Given the description of an element on the screen output the (x, y) to click on. 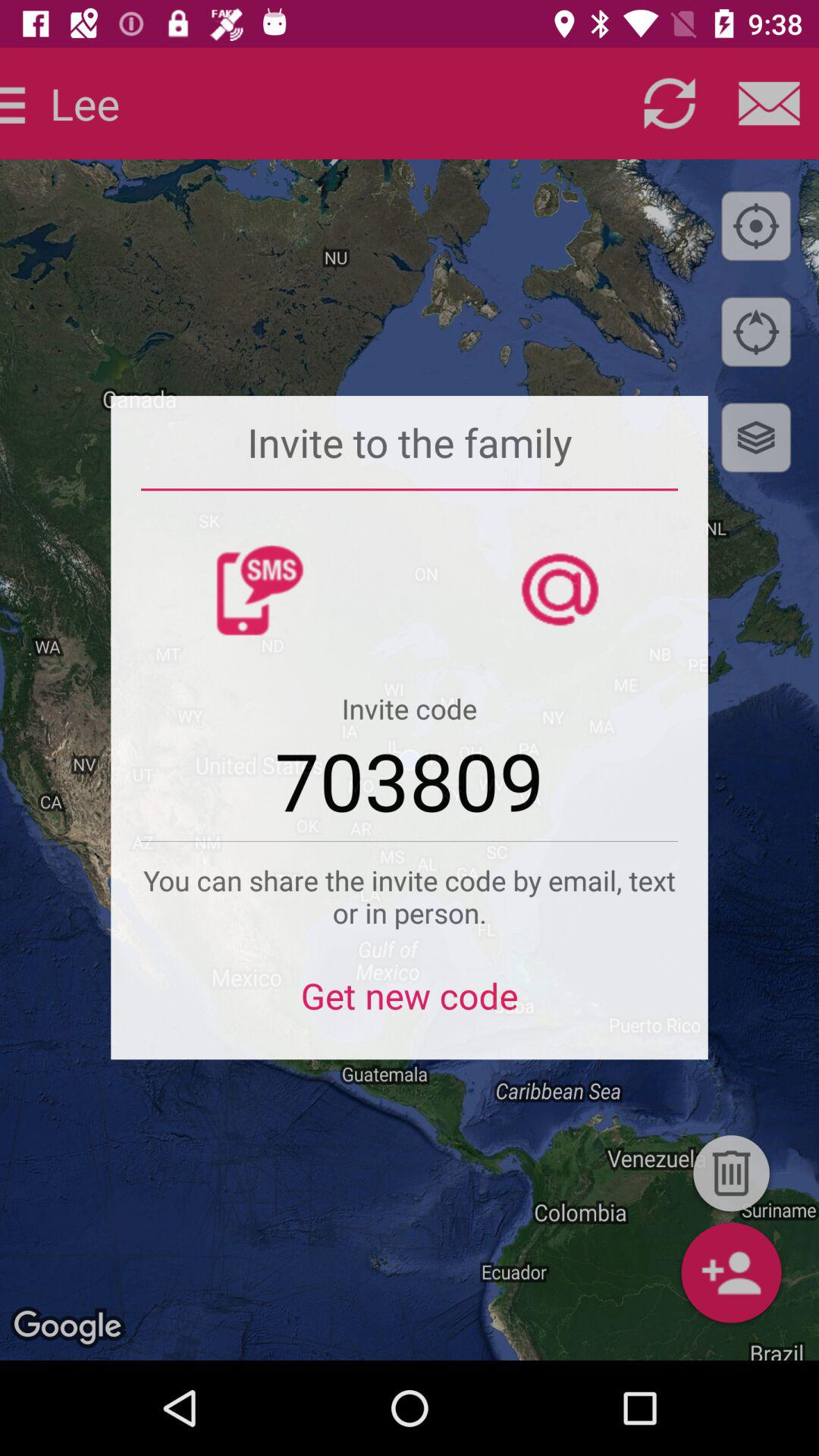
refresh page (669, 103)
